Given the description of an element on the screen output the (x, y) to click on. 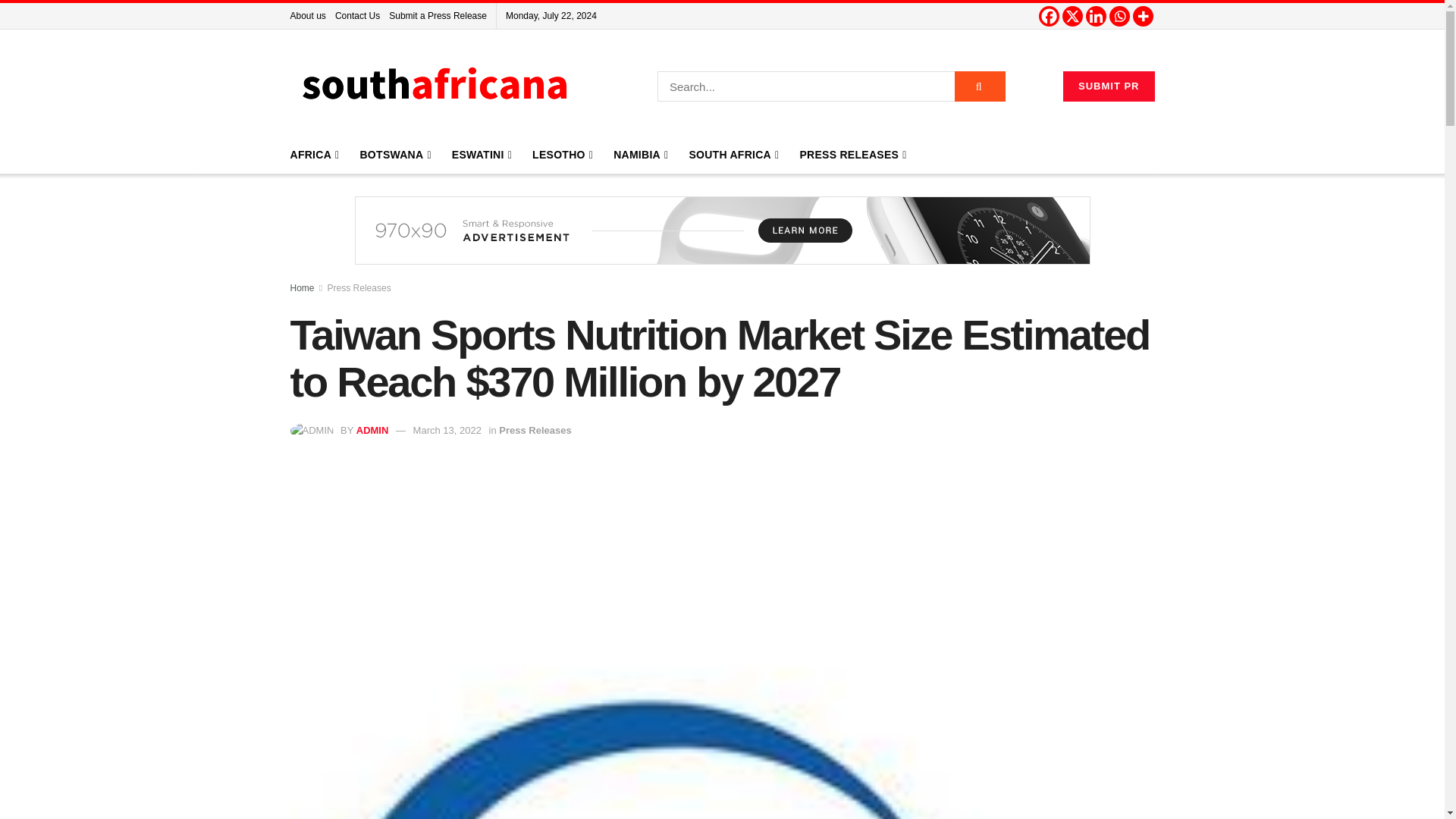
Contact Us (357, 15)
Linkedin (1096, 15)
LESOTHO (561, 154)
About us (306, 15)
X (1071, 15)
Facebook (1049, 15)
AFRICA (312, 154)
ESWATINI (480, 154)
More (1142, 15)
Submit a Press Release (437, 15)
SUBMIT PR (1108, 86)
Whatsapp (1118, 15)
BOTSWANA (393, 154)
